Given the description of an element on the screen output the (x, y) to click on. 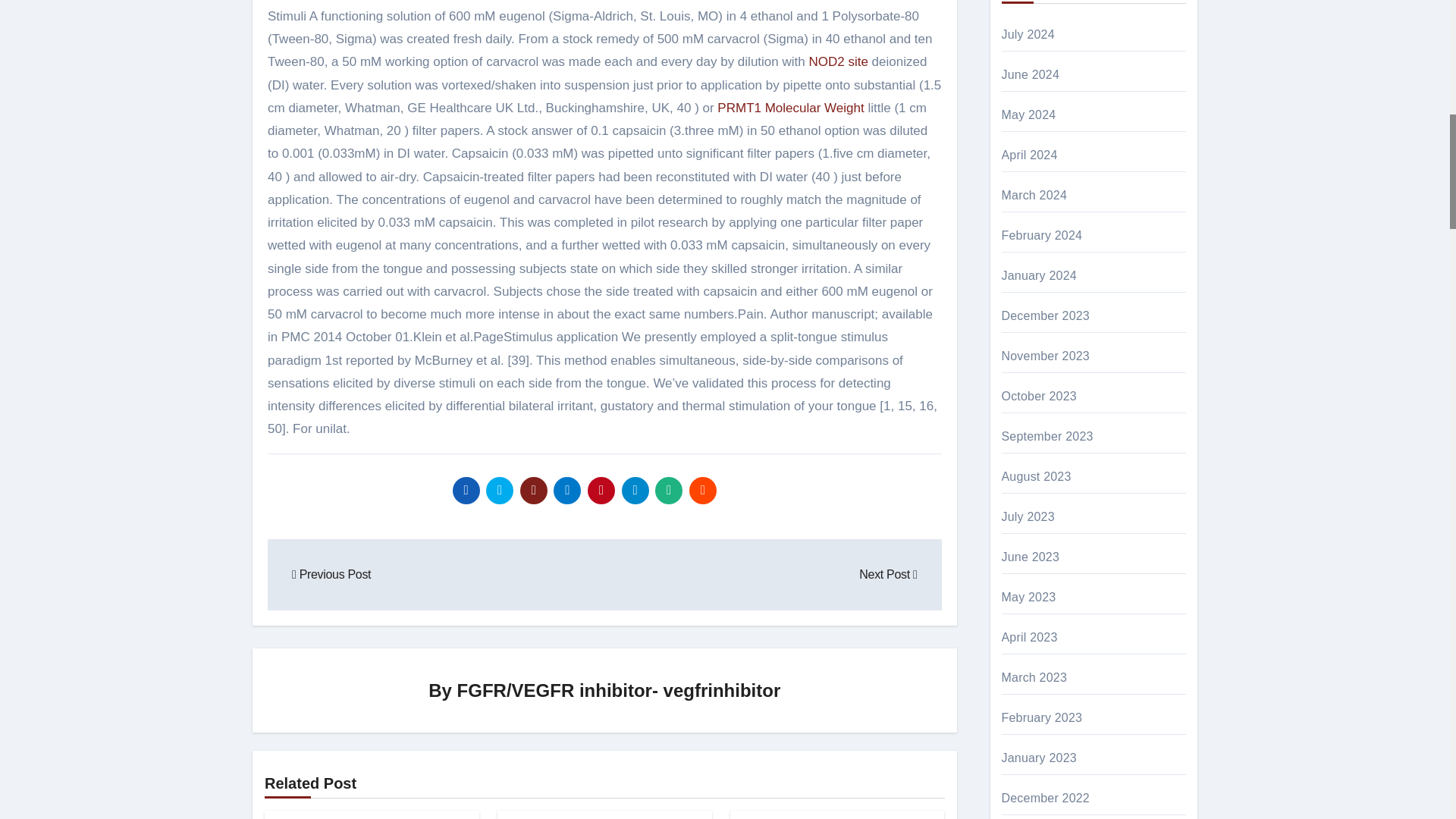
Previous Post (331, 574)
NOD2 site (837, 61)
Next Post (888, 574)
PRMT1 Molecular Weight (790, 107)
